Given the description of an element on the screen output the (x, y) to click on. 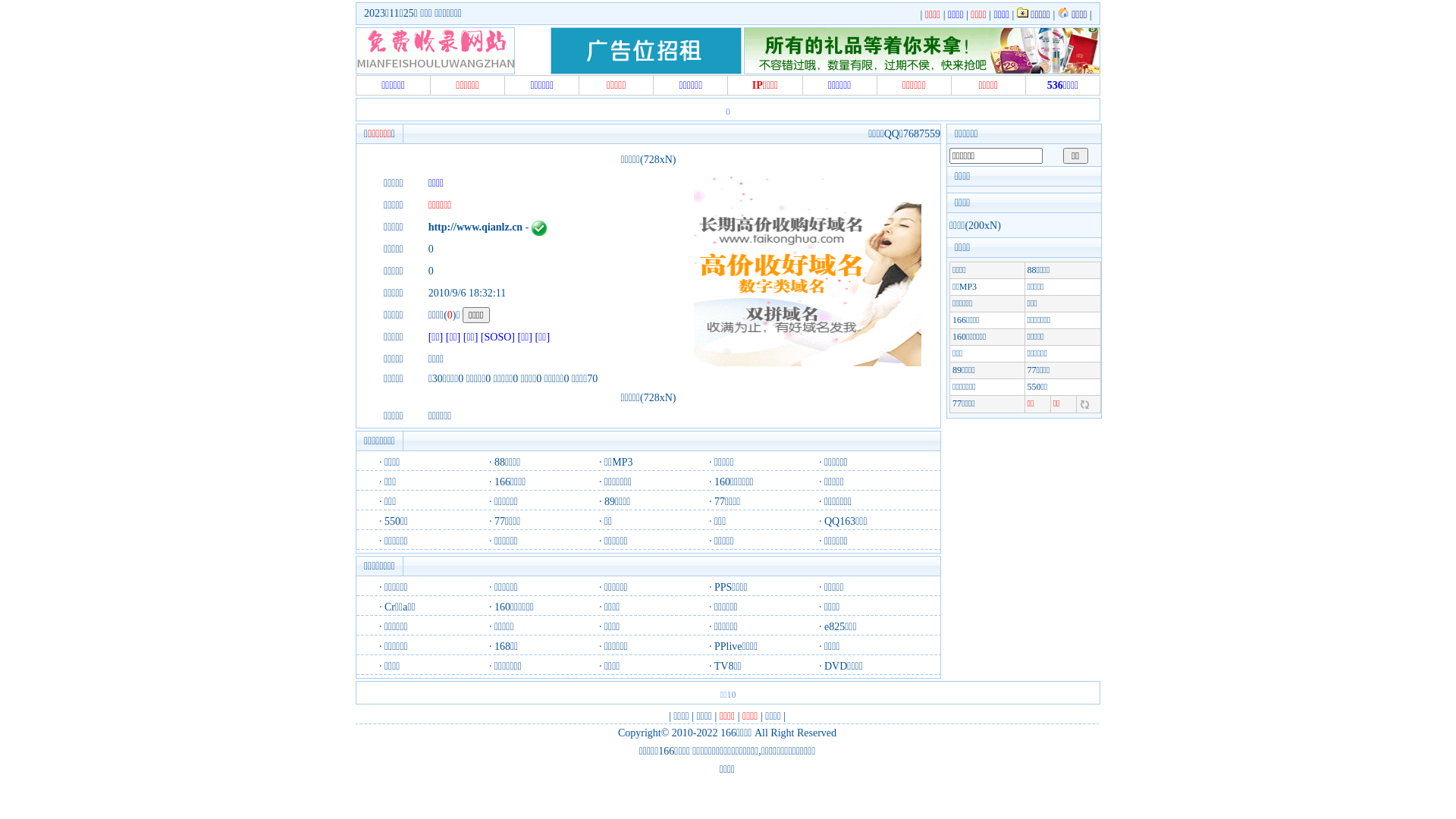
[SOSO] Element type: text (497, 336)
http://www.qianlz.cn Element type: text (475, 226)
